Given the description of an element on the screen output the (x, y) to click on. 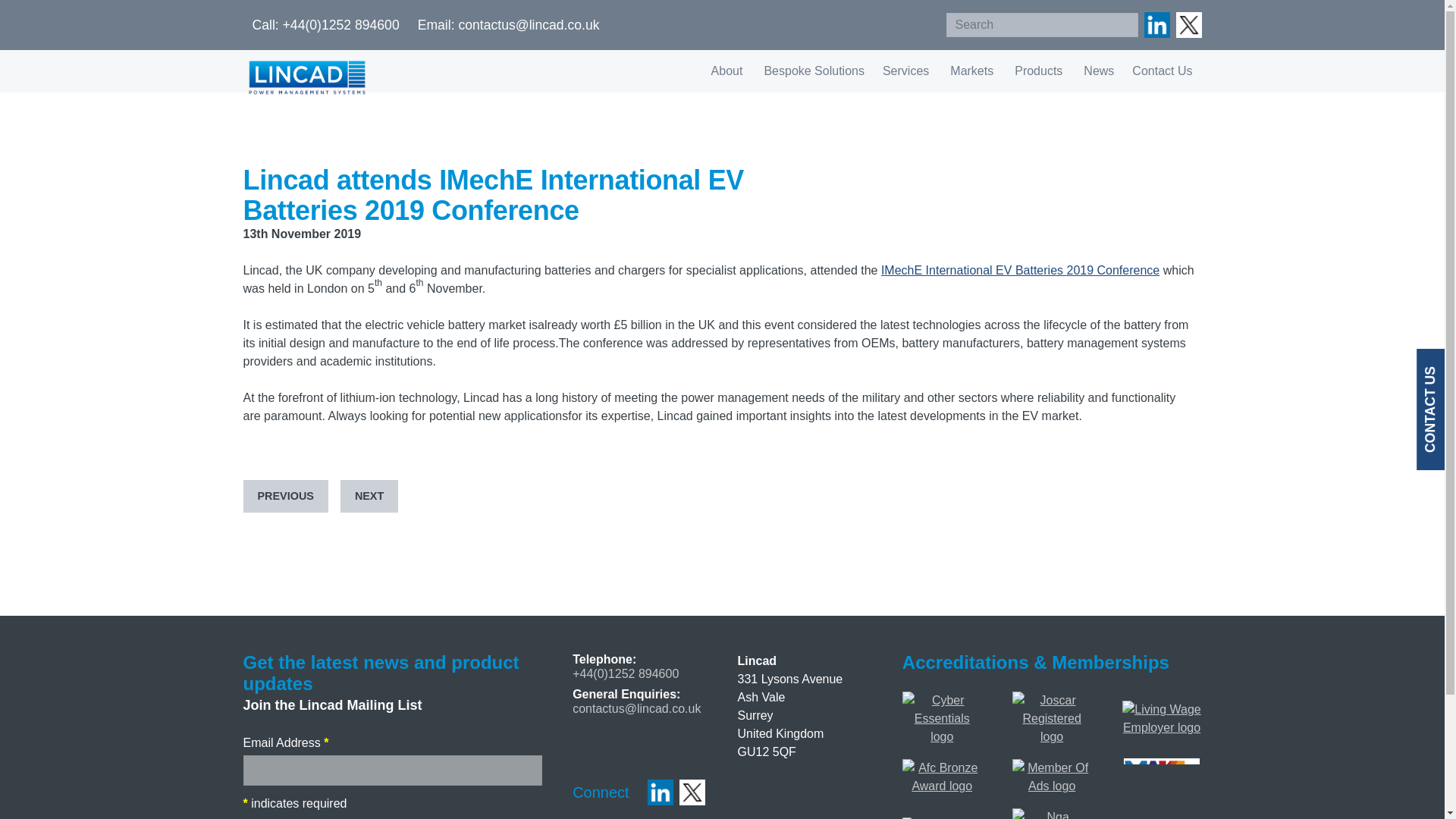
Follow us on X (1187, 24)
Joscar (1051, 699)
IMechE International EV Batteries 2019 Conference (1019, 269)
ADS (1051, 767)
Follow us on LinkedIn (1155, 24)
Markets (973, 70)
About (728, 70)
Make UK Defence (1161, 766)
Bespoke Solutions (813, 70)
Services (906, 70)
Armed Forces Covenant (941, 767)
News (1098, 70)
SEARCH (1121, 24)
Cyber Essentials (941, 699)
Products (1040, 70)
